Given the description of an element on the screen output the (x, y) to click on. 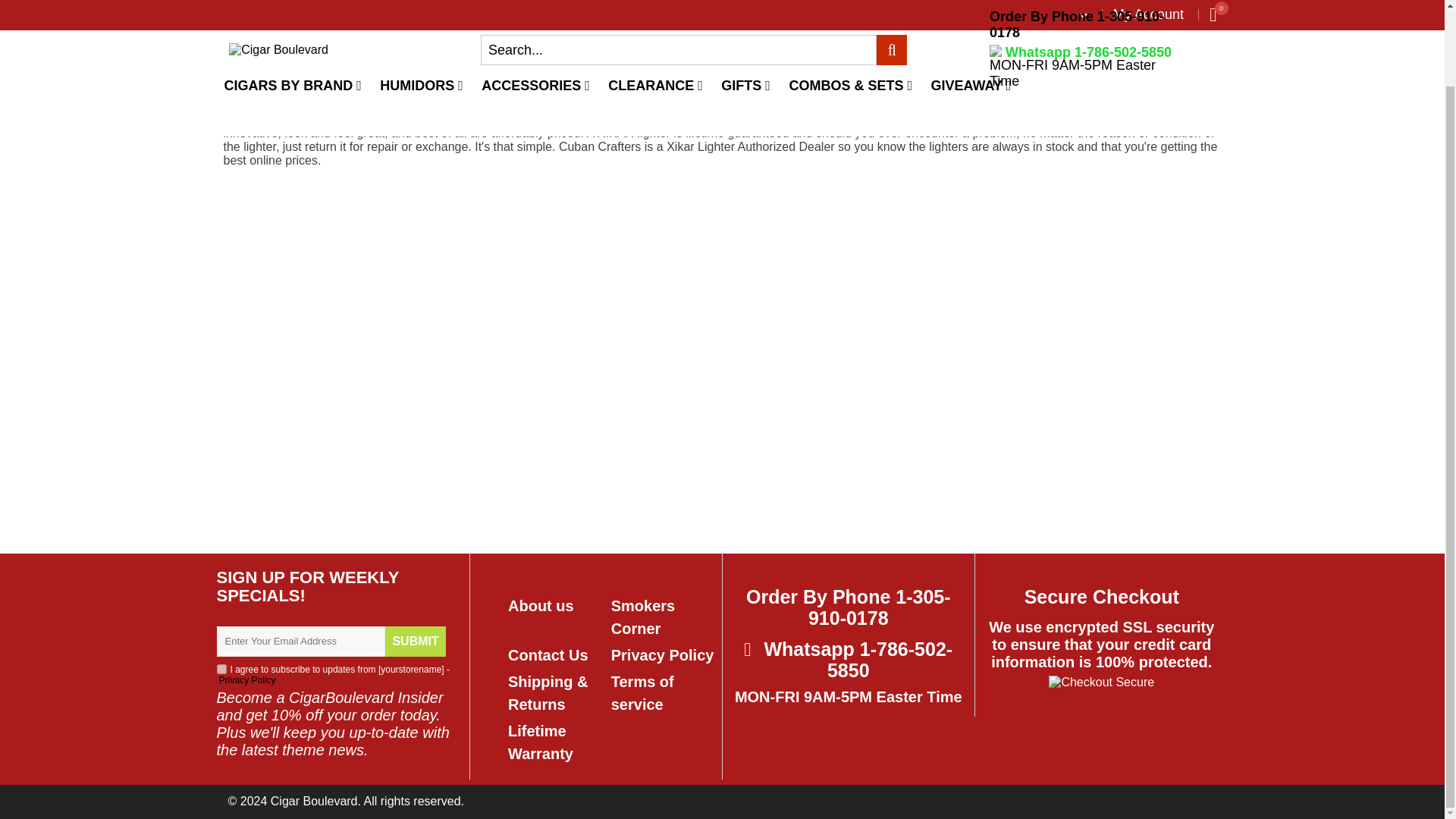
CIGARS BY BRAND (292, 7)
on (221, 669)
Grid view (1023, 99)
List view (1040, 99)
Back to the home page (242, 90)
